Given the description of an element on the screen output the (x, y) to click on. 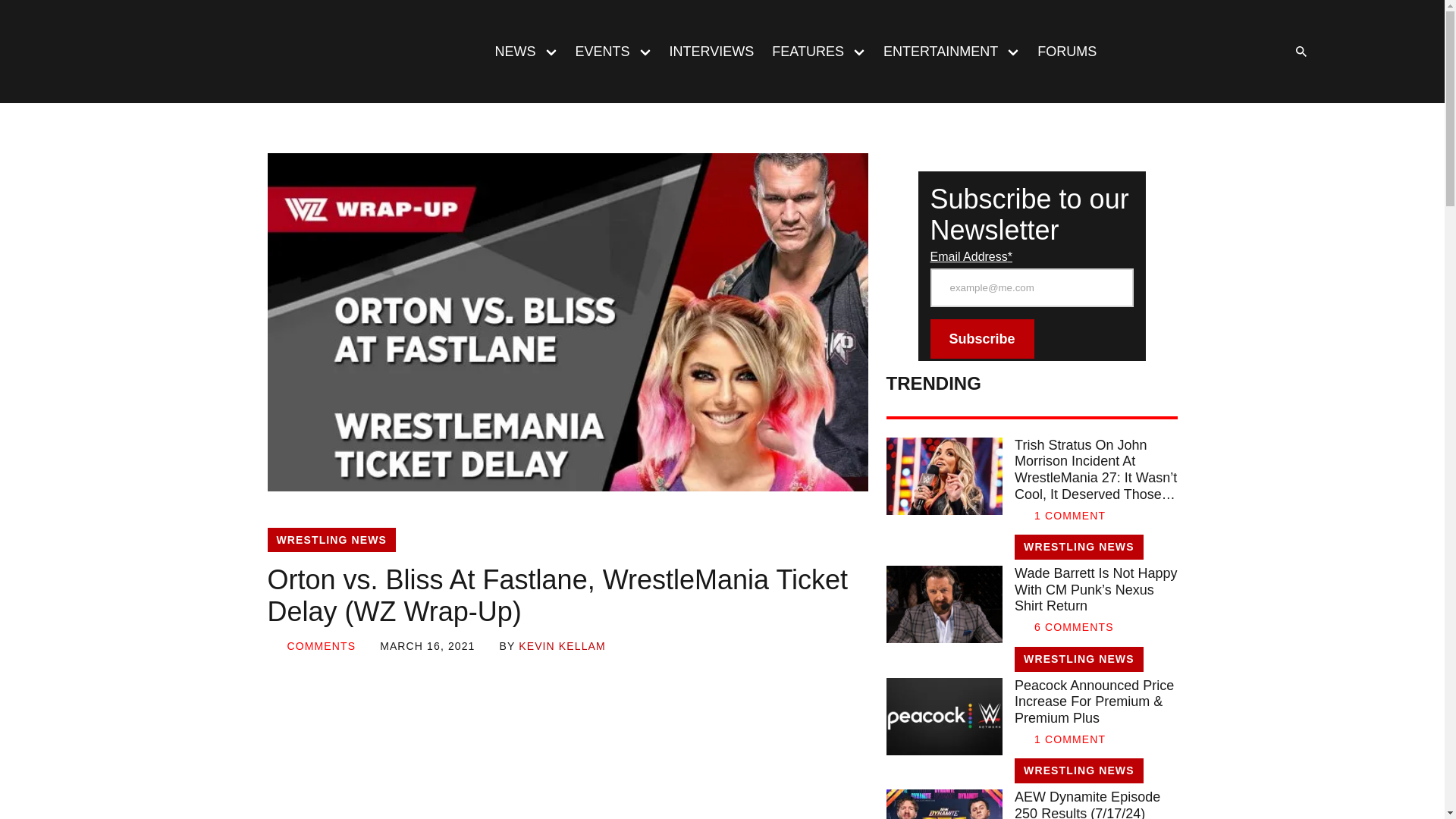
Open menu (550, 51)
Facebook (1156, 51)
Open menu (645, 51)
FEATURES (803, 51)
Open menu (859, 51)
Open menu (1012, 51)
Instagram (1217, 51)
INTERVIEWS (711, 51)
NEWS (509, 51)
FORUMS (1066, 51)
YouTube (1248, 51)
EVENTS (597, 51)
WRESTLING NEWS (331, 539)
ENTERTAINMENT (936, 51)
Twitter (1186, 51)
